Given the description of an element on the screen output the (x, y) to click on. 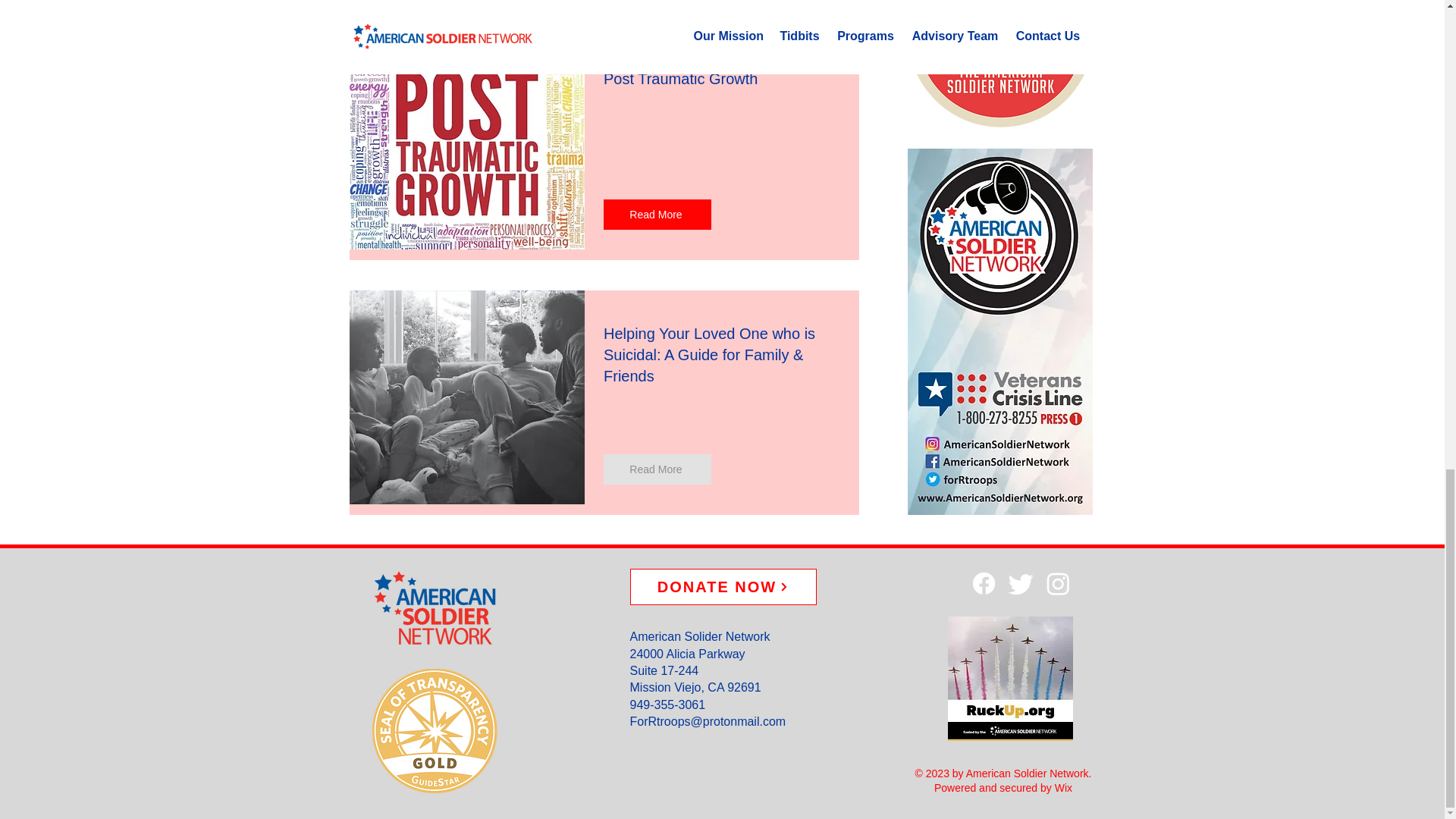
Read More (657, 214)
DONATE NOW (721, 586)
Read More (657, 469)
Wix (1062, 787)
